Given the description of an element on the screen output the (x, y) to click on. 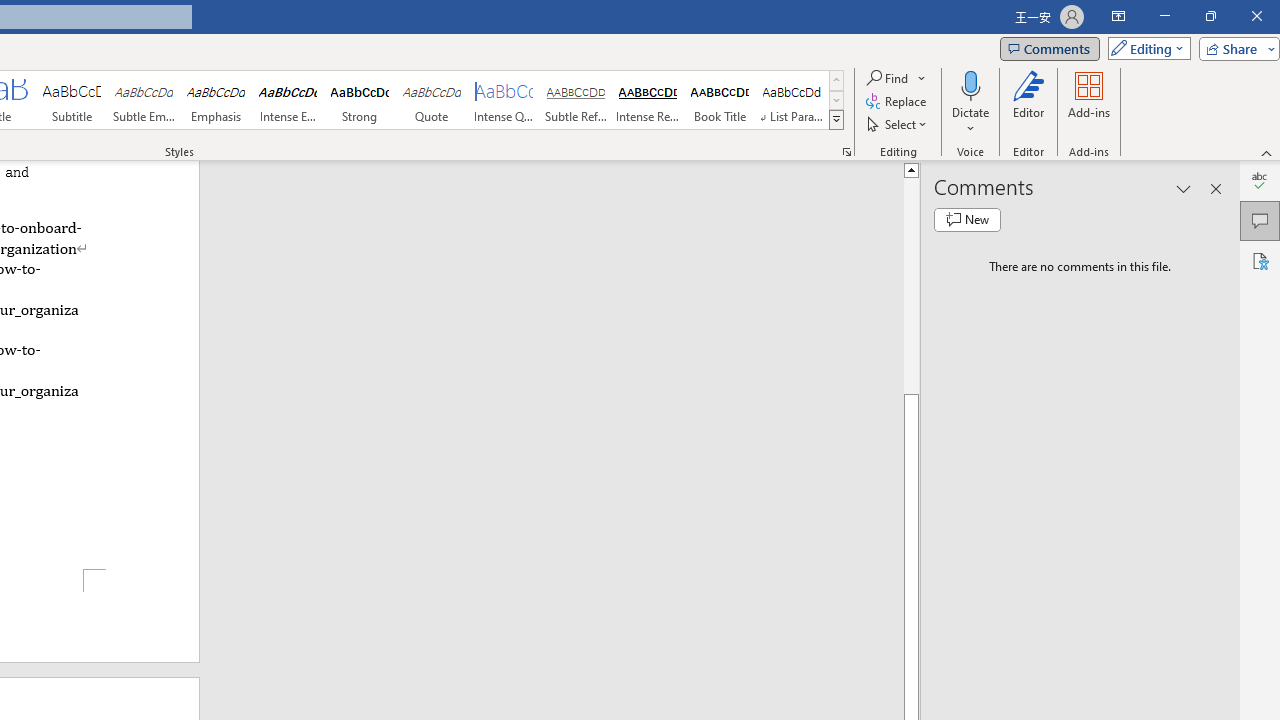
Intense Reference (647, 100)
Subtle Emphasis (143, 100)
Styles (836, 120)
Editing (1144, 47)
New comment (967, 219)
Replace... (897, 101)
Accessibility (1260, 260)
Intense Quote (504, 100)
